Given the description of an element on the screen output the (x, y) to click on. 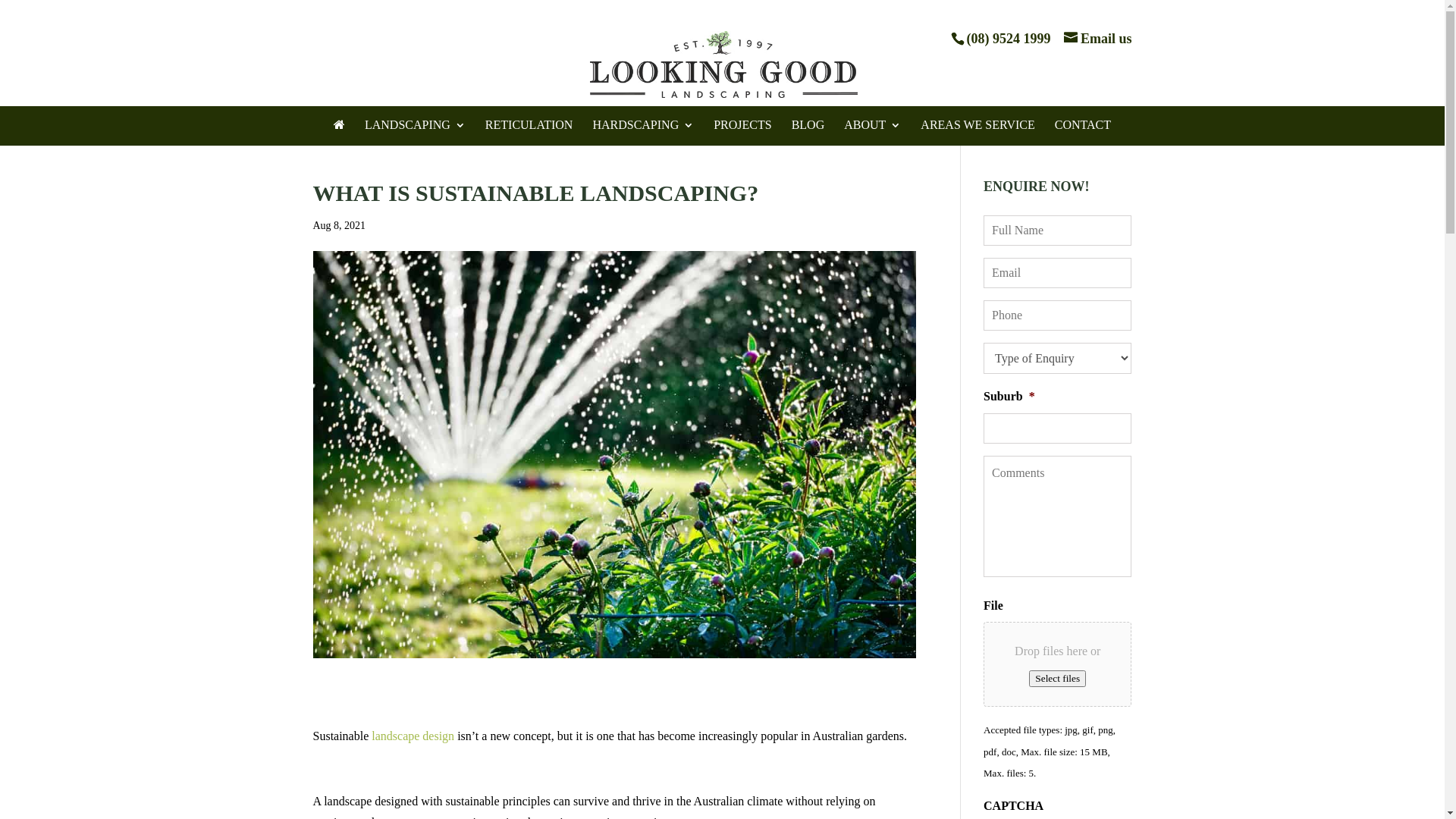
landscape design Element type: text (412, 735)
PROJECTS Element type: text (742, 126)
RETICULATION Element type: text (529, 126)
BLOG Element type: text (808, 126)
ABOUT Element type: text (872, 126)
AREAS WE SERVICE Element type: text (977, 126)
Select files Element type: text (1057, 678)
Email us Element type: text (1097, 38)
(08) 9524 1999 Element type: text (1008, 38)
HARDSCAPING Element type: text (642, 126)
CONTACT Element type: text (1082, 126)
LANDSCAPING Element type: text (414, 126)
